Given the description of an element on the screen output the (x, y) to click on. 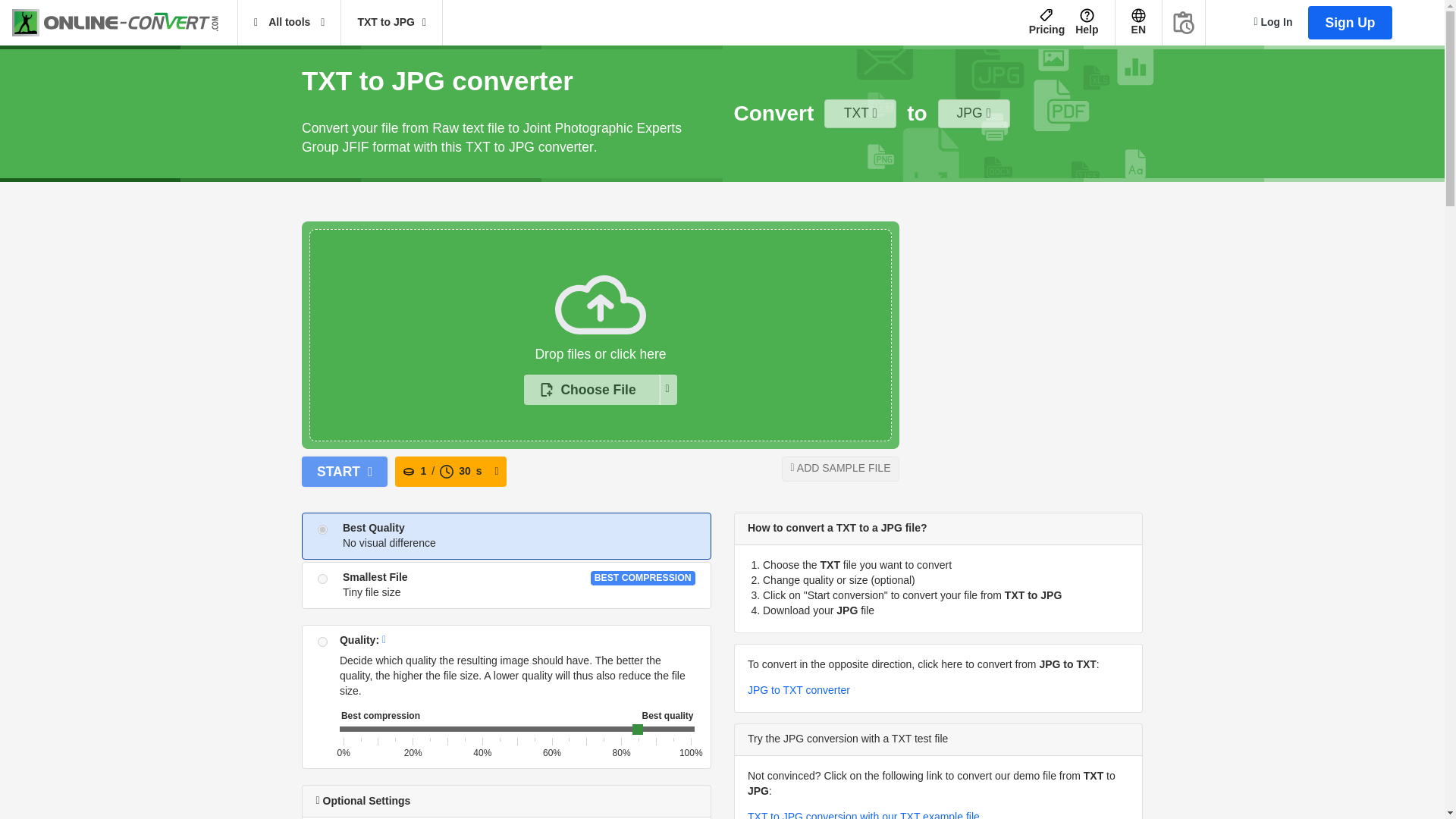
All tools (289, 22)
on (322, 529)
on (322, 642)
TXT to JPG (391, 22)
Free Online converter tool (124, 22)
85 (517, 731)
on (322, 578)
